Given the description of an element on the screen output the (x, y) to click on. 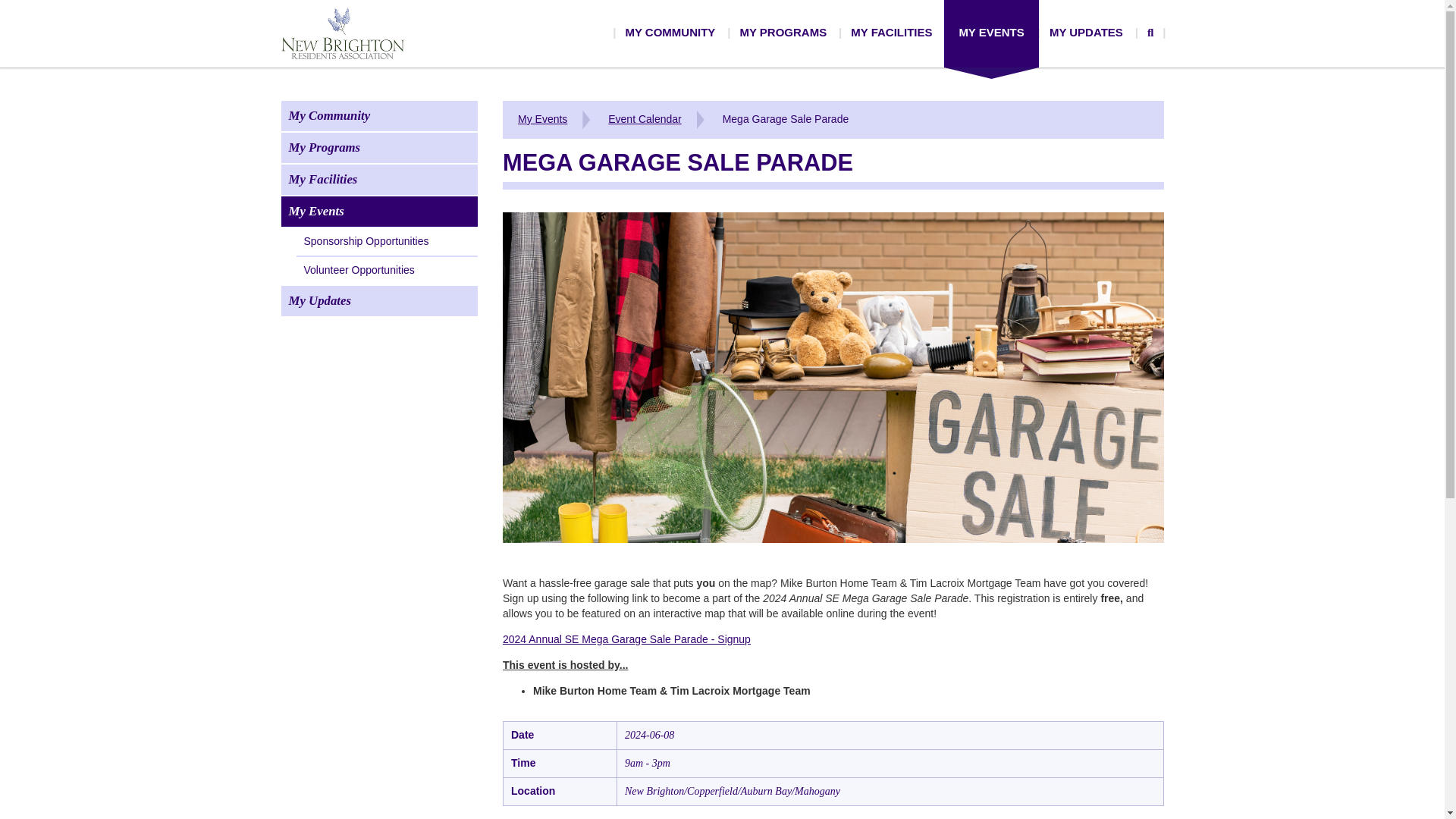
My Facilities (379, 179)
Volunteer Opportunities (386, 271)
Event Calendar (644, 119)
MY FACILITIES (890, 31)
My Updates (379, 300)
Mega Garage Sale Parade (785, 119)
MY EVENTS (990, 31)
MY PROGRAMS (782, 31)
2024 Annual SE Mega Garage Sale Parade - Signup (626, 639)
My Events (542, 119)
